Given the description of an element on the screen output the (x, y) to click on. 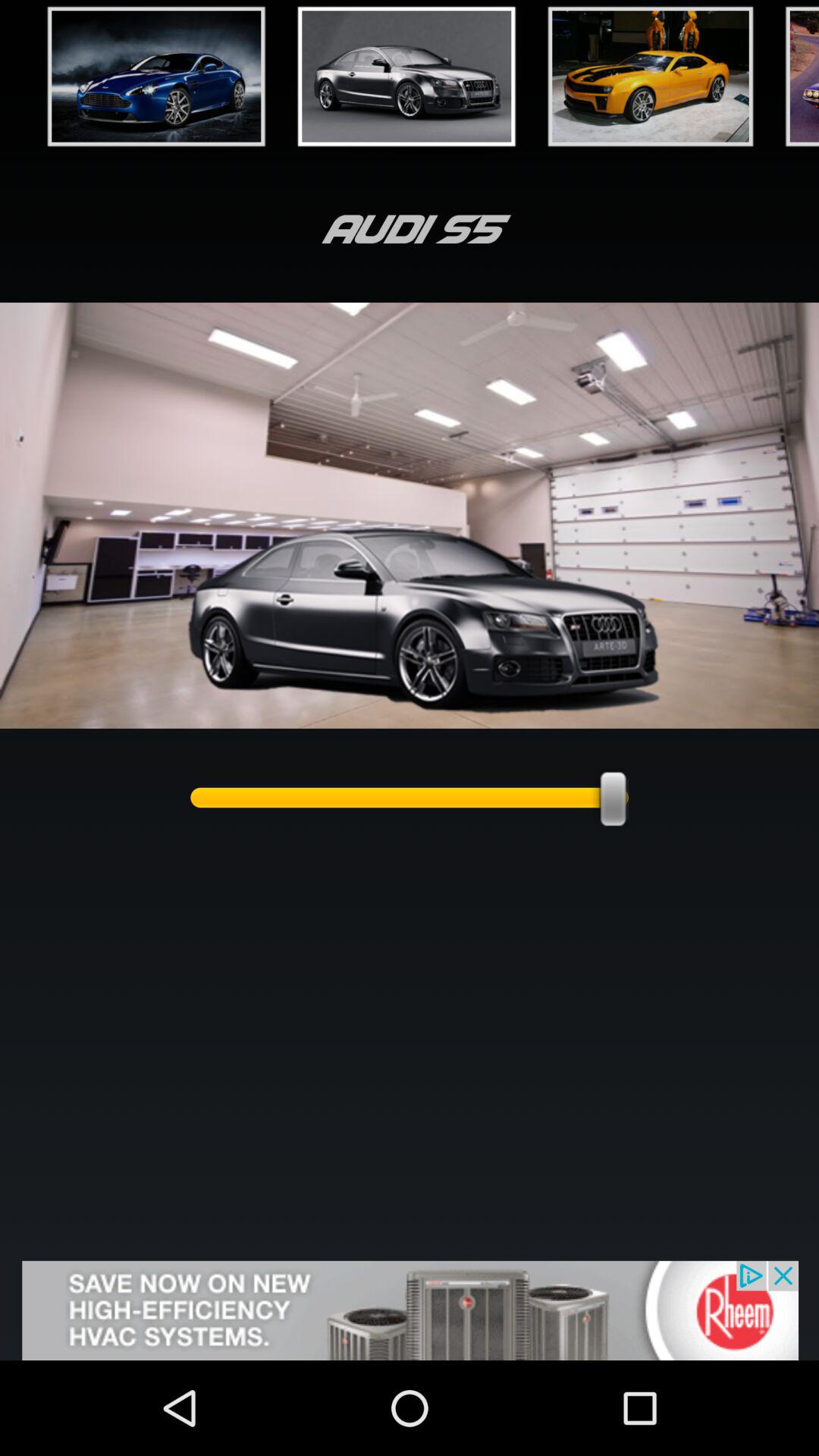
select hvac advertisement (409, 1310)
